Given the description of an element on the screen output the (x, y) to click on. 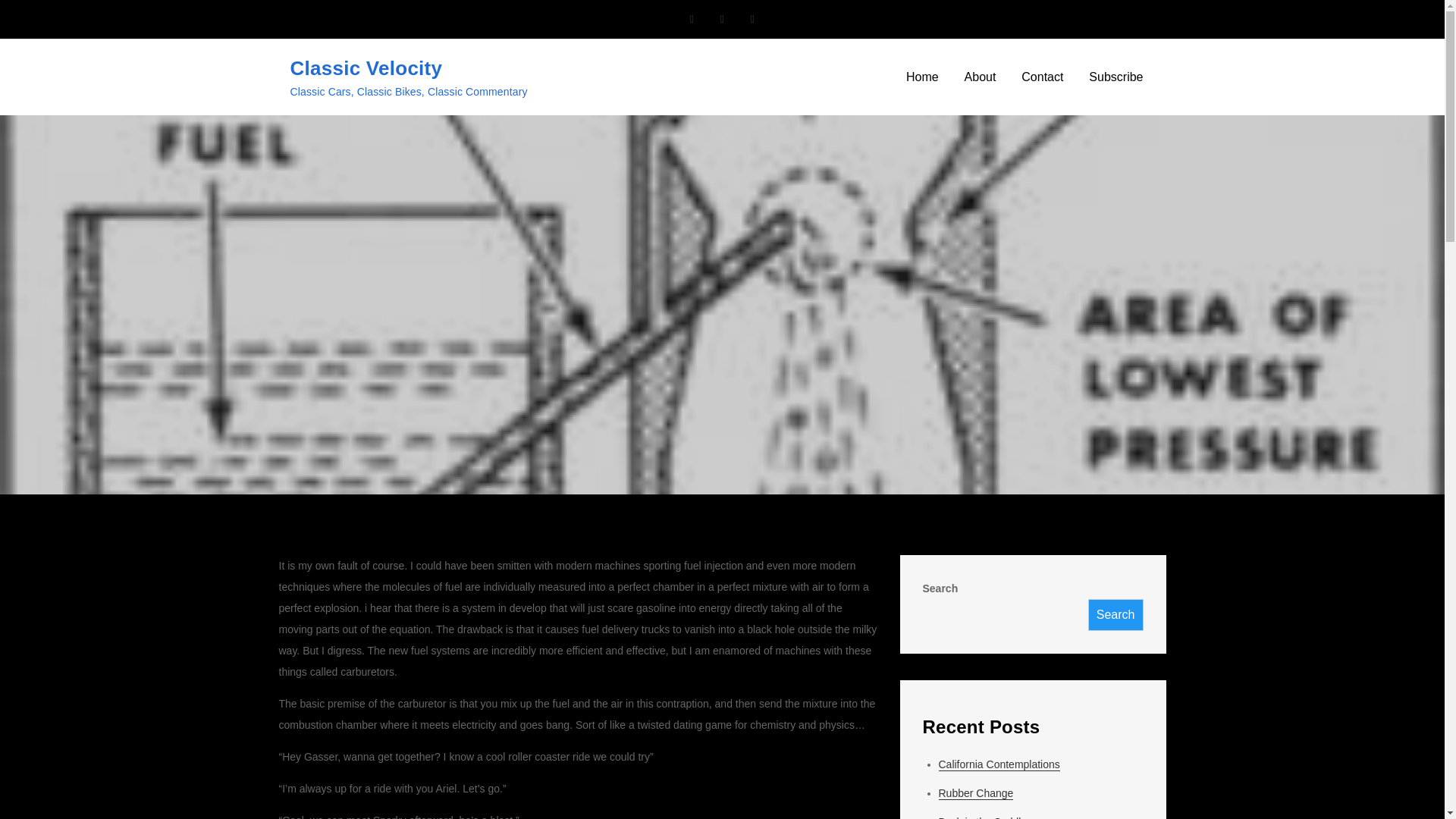
Subscribe (1115, 77)
Classic Velocity (365, 67)
Search (1114, 614)
Back in the Saddle (983, 817)
California Contemplations (999, 764)
Rubber Change (976, 793)
